Given the description of an element on the screen output the (x, y) to click on. 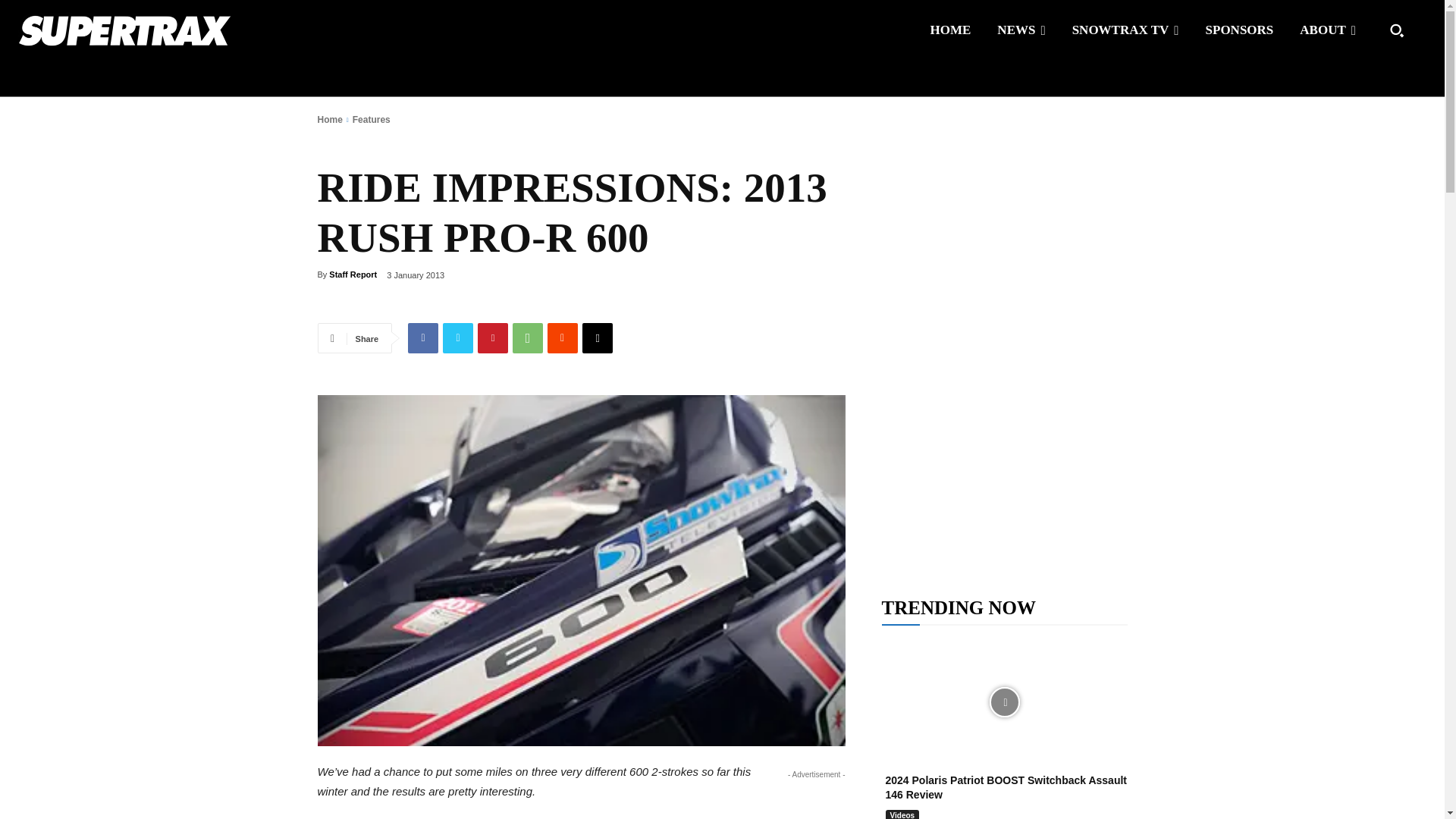
Supertrax (123, 29)
Supertrax (147, 29)
HOME (950, 30)
SNOWTRAX TV (1126, 30)
NEWS (1021, 30)
